Given the description of an element on the screen output the (x, y) to click on. 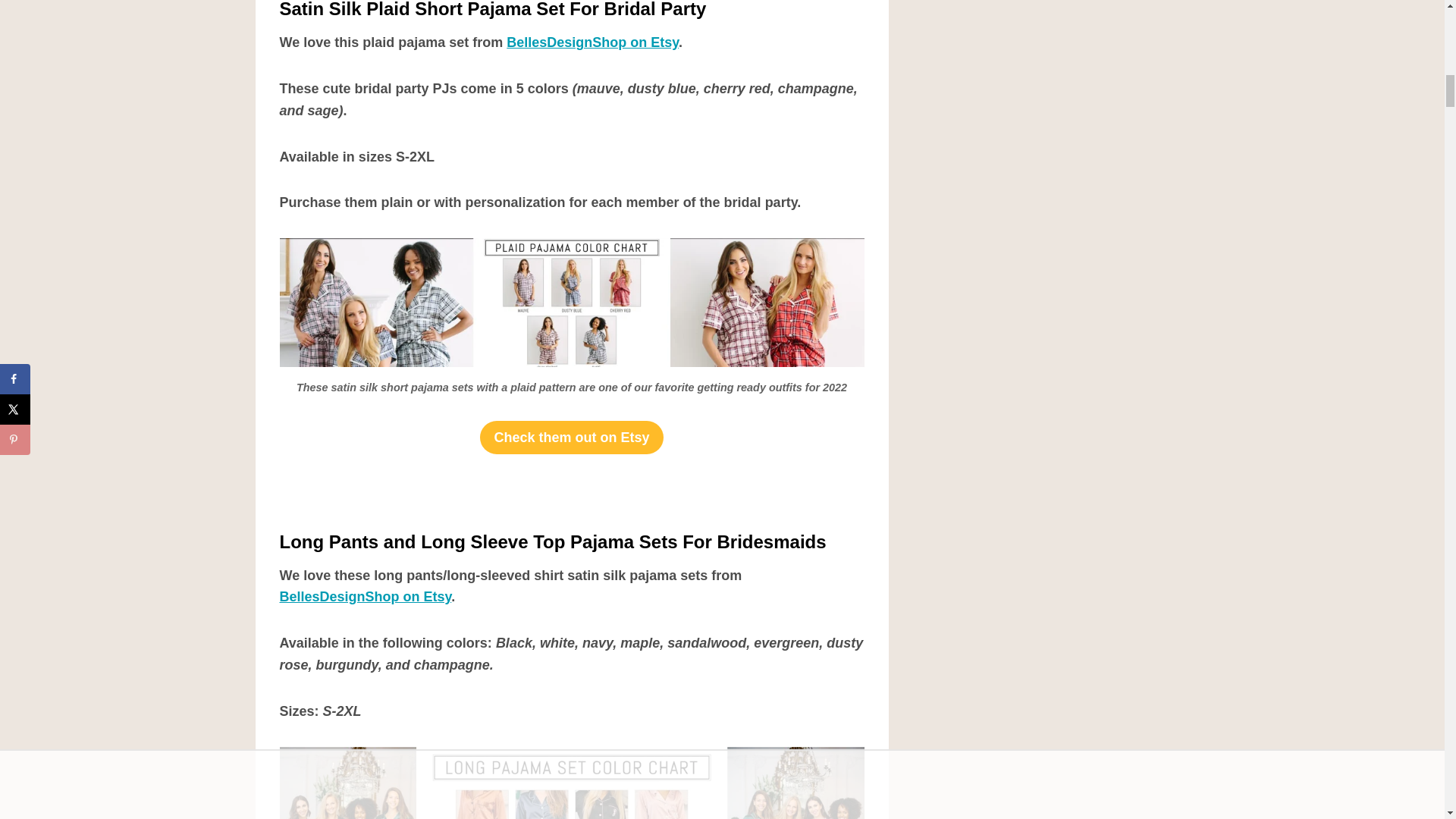
Check them out on Etsy (571, 436)
BellesDesignShop on Etsy (365, 596)
BellesDesignShop on Etsy (592, 42)
